Given the description of an element on the screen output the (x, y) to click on. 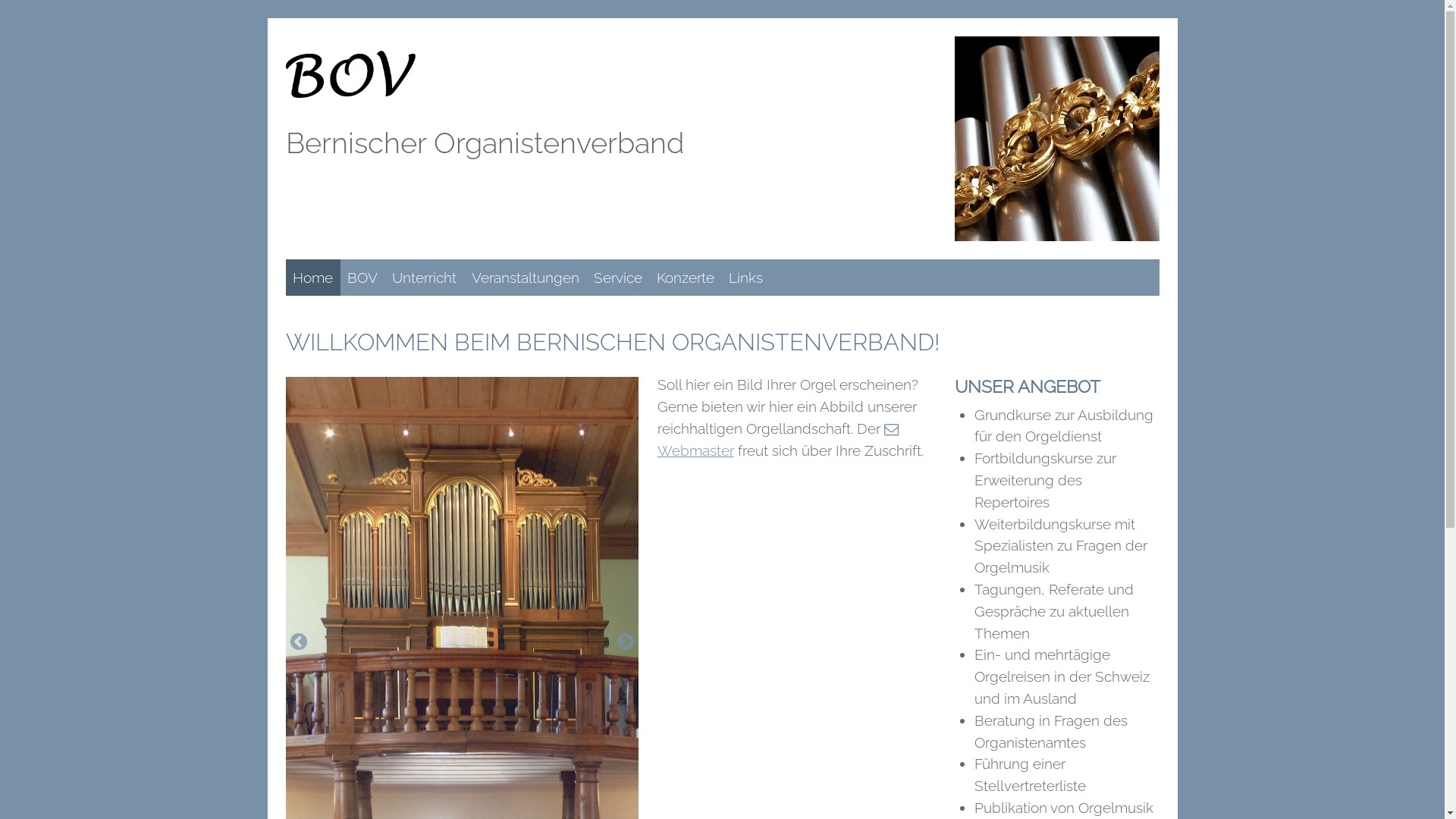
Veranstaltungen Element type: text (525, 277)
Next Element type: text (625, 642)
Webmaster Element type: text (780, 439)
Home Element type: text (312, 277)
BOV Element type: text (362, 277)
Unterricht Element type: text (424, 277)
Service Element type: text (617, 277)
Bernischer Organistenverband Element type: text (484, 142)
Previous Element type: text (297, 642)
Links Element type: text (745, 277)
Konzerte Element type: text (685, 277)
